Given the description of an element on the screen output the (x, y) to click on. 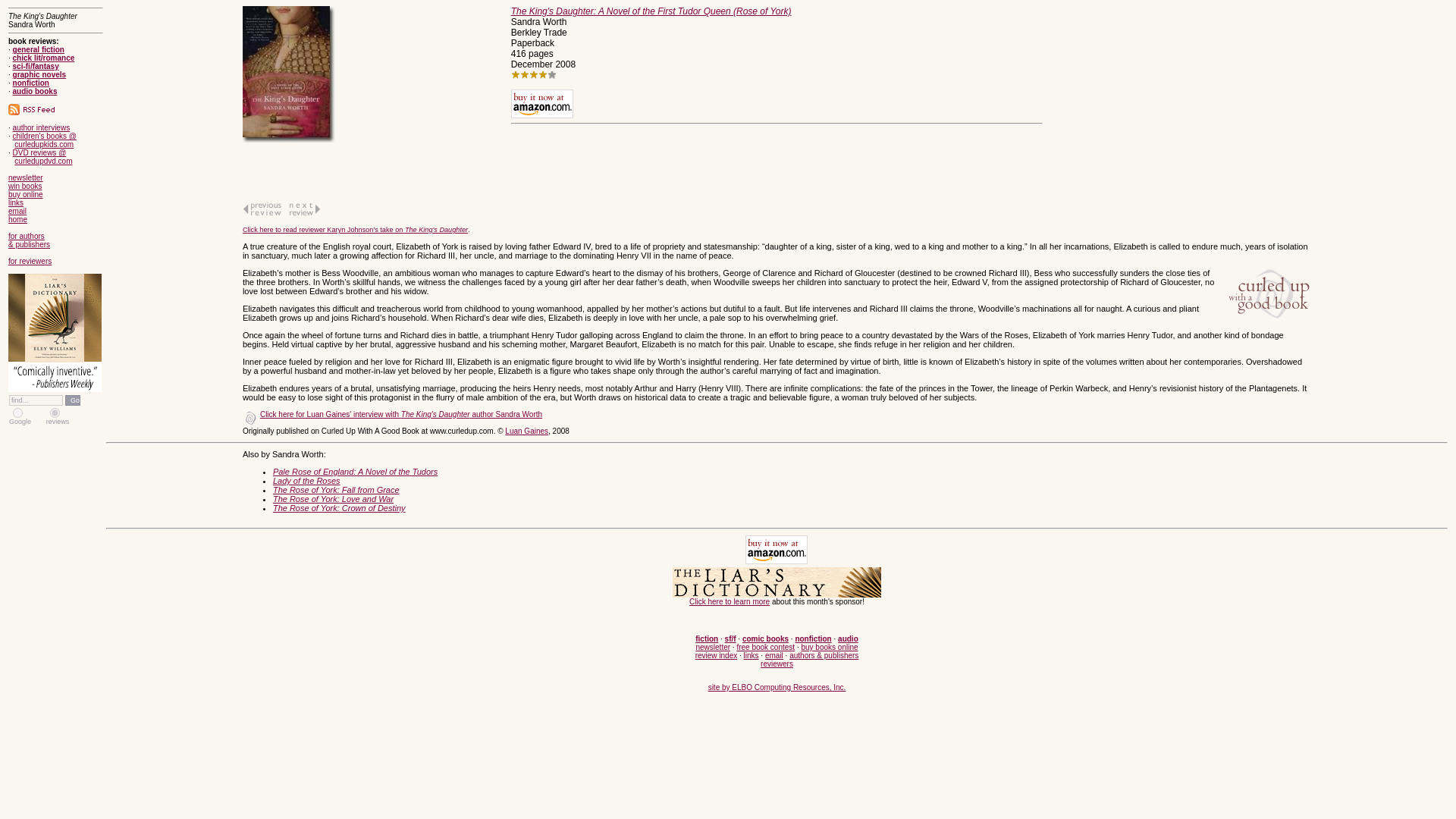
Pale Rose of England: A Novel of the Tudors (355, 470)
buy online (25, 194)
Click here to learn more (729, 601)
Luan Gaines (526, 430)
find... (35, 399)
home (17, 219)
curledupdvd.com (42, 161)
nonfiction (31, 82)
Go (72, 399)
for reviewers (29, 261)
links (15, 203)
The Rose of York: Love and War (333, 498)
newsletter (25, 177)
Advertisement (1158, 100)
